Given the description of an element on the screen output the (x, y) to click on. 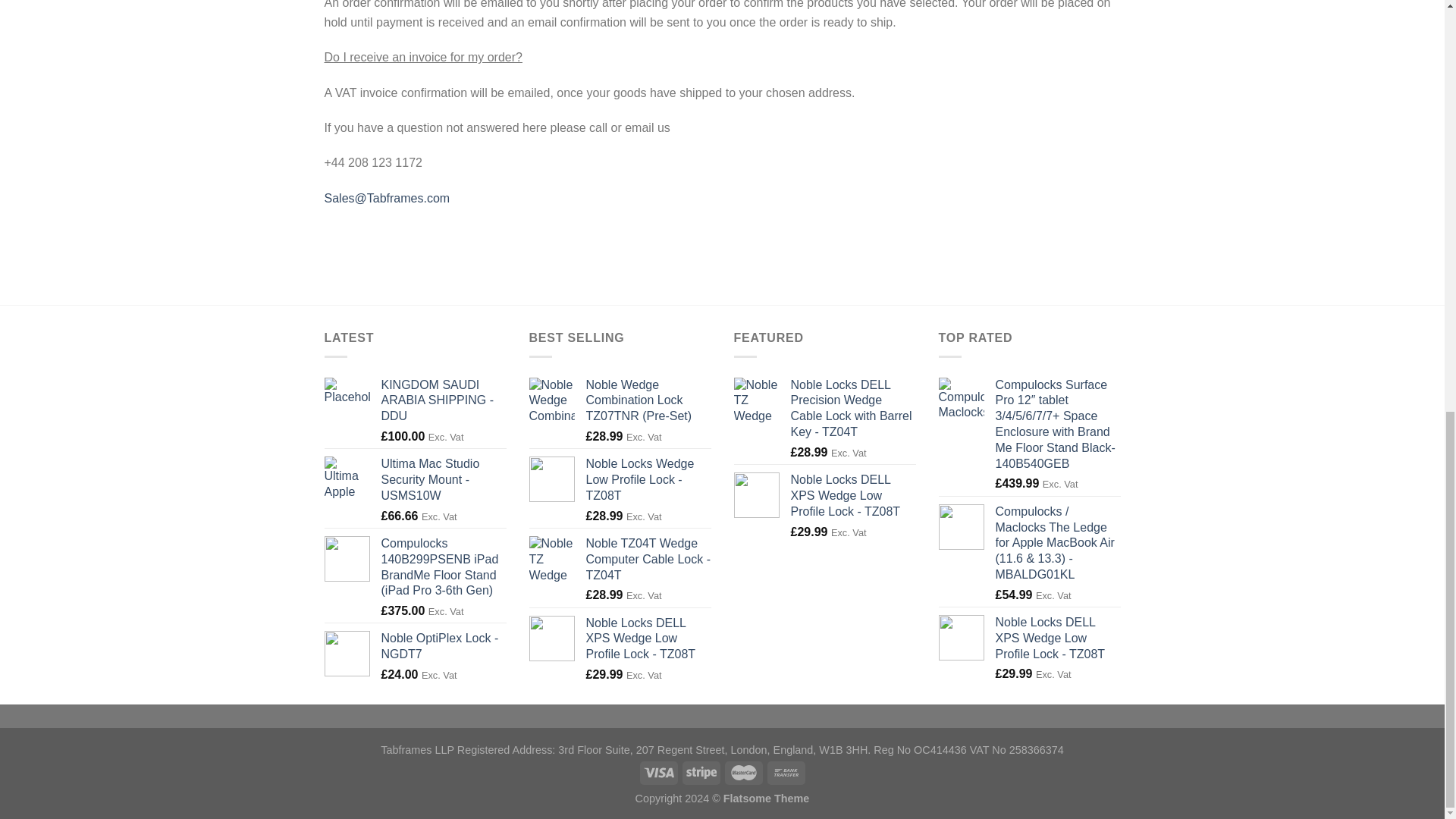
Ultima Mac Studio Security Mount - USMS10W (442, 479)
Noble Locks DELL XPS Wedge Low Profile Lock - TZ08T (1056, 638)
Noble OptiPlex Lock - NGDT7 (442, 646)
Noble Locks Wedge Low Profile Lock - TZ08T (647, 479)
Noble Locks DELL XPS Wedge Low Profile Lock - TZ08T (647, 638)
Noble Locks DELL XPS Wedge Low Profile Lock - TZ08T (852, 495)
KINGDOM SAUDI ARABIA SHIPPING - DDU (442, 401)
Noble TZ04T Wedge Computer Cable Lock - TZ04T (647, 559)
